Given the description of an element on the screen output the (x, y) to click on. 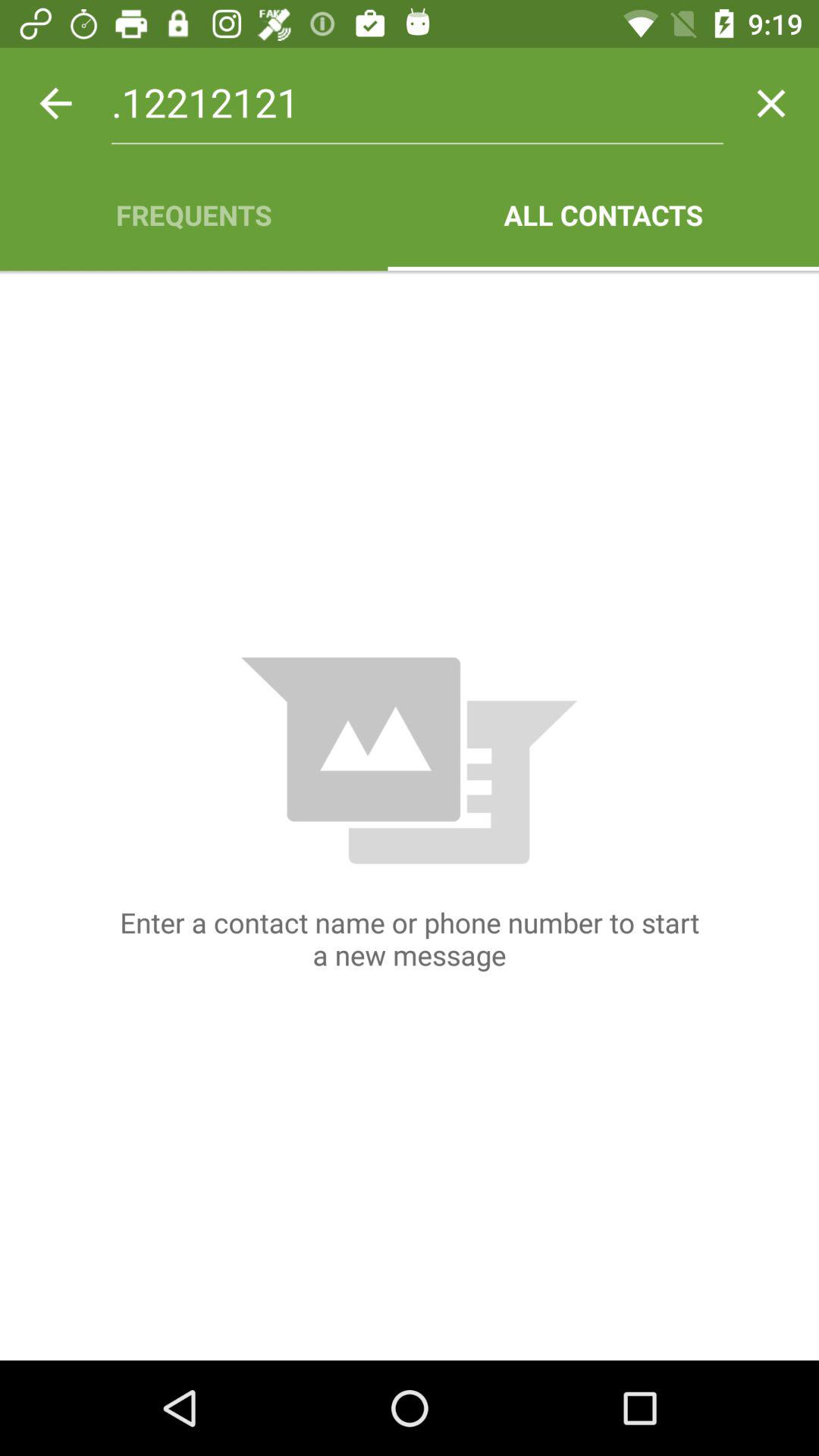
select icon to the left of the .12212121 icon (55, 103)
